Given the description of an element on the screen output the (x, y) to click on. 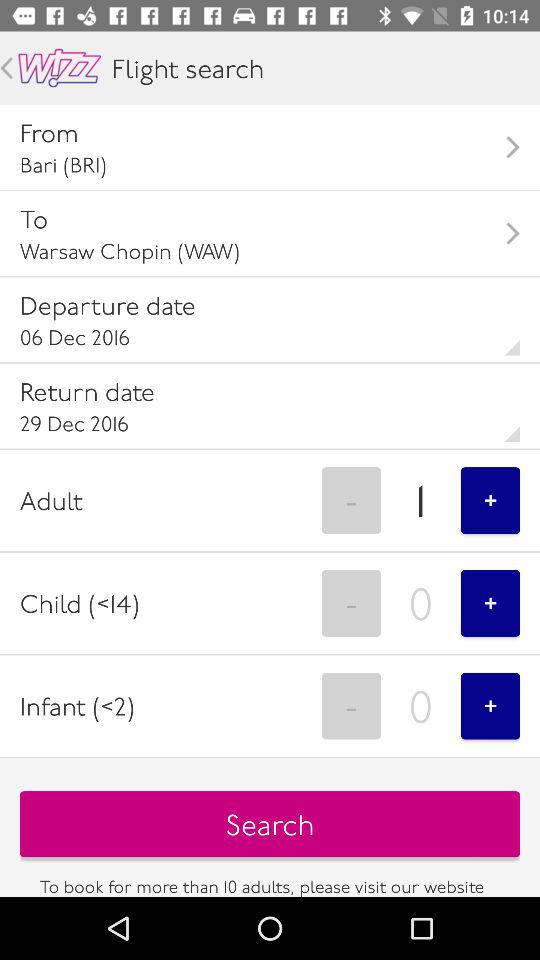
tap the item to the left of the 1 icon (351, 500)
